Given the description of an element on the screen output the (x, y) to click on. 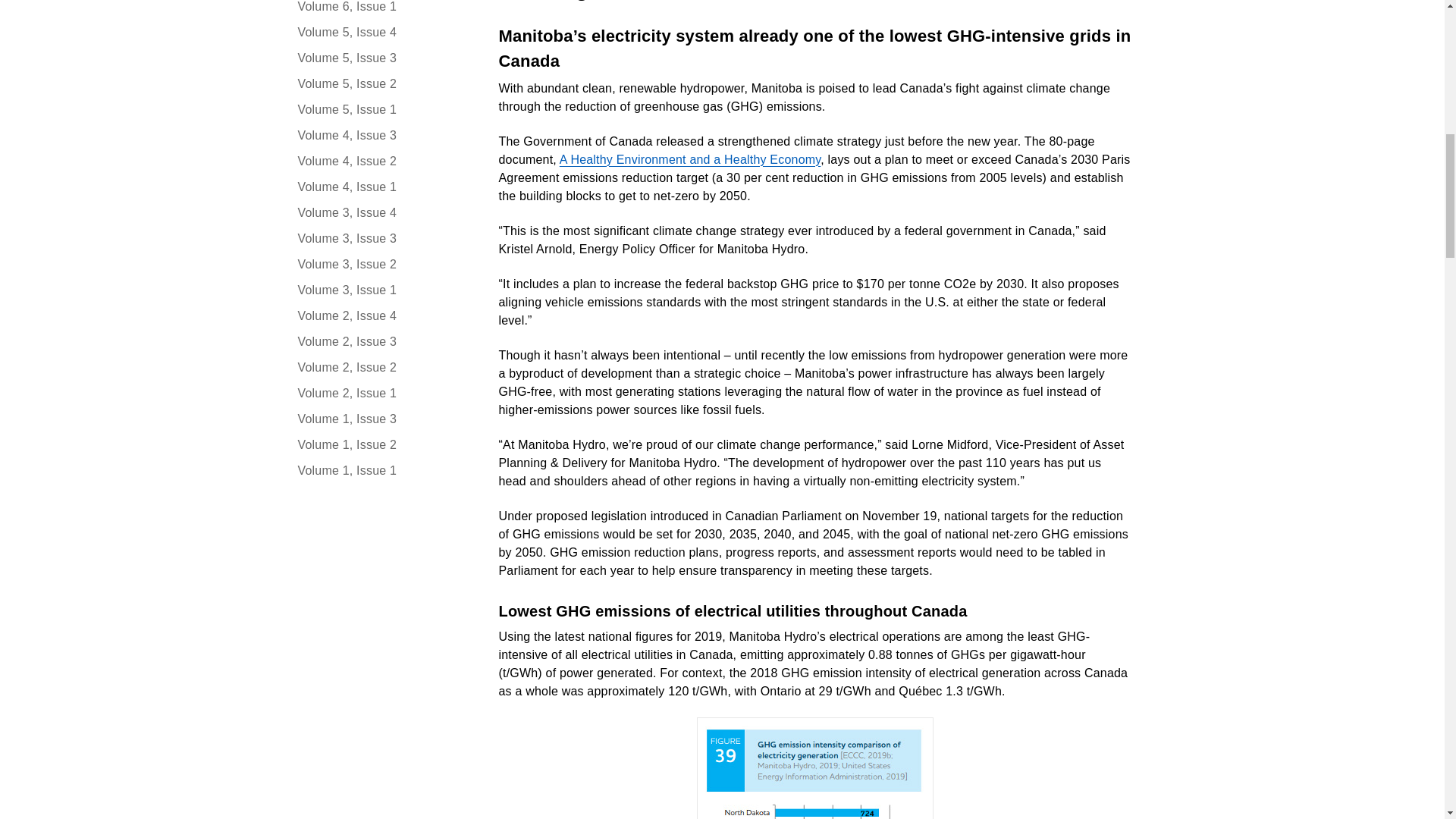
Volume 5, Issue 4 (382, 32)
Volume 5, Issue 3 (382, 58)
Volume 2, Issue 3 (382, 341)
Volume 4, Issue 2 (382, 161)
Volume 3, Issue 3 (382, 239)
Volume 1, Issue 1 (382, 470)
Volume 3, Issue 2 (382, 264)
Volume 3, Issue 4 (382, 212)
Volume 2, Issue 1 (382, 393)
Volume 4, Issue 1 (382, 187)
